Given the description of an element on the screen output the (x, y) to click on. 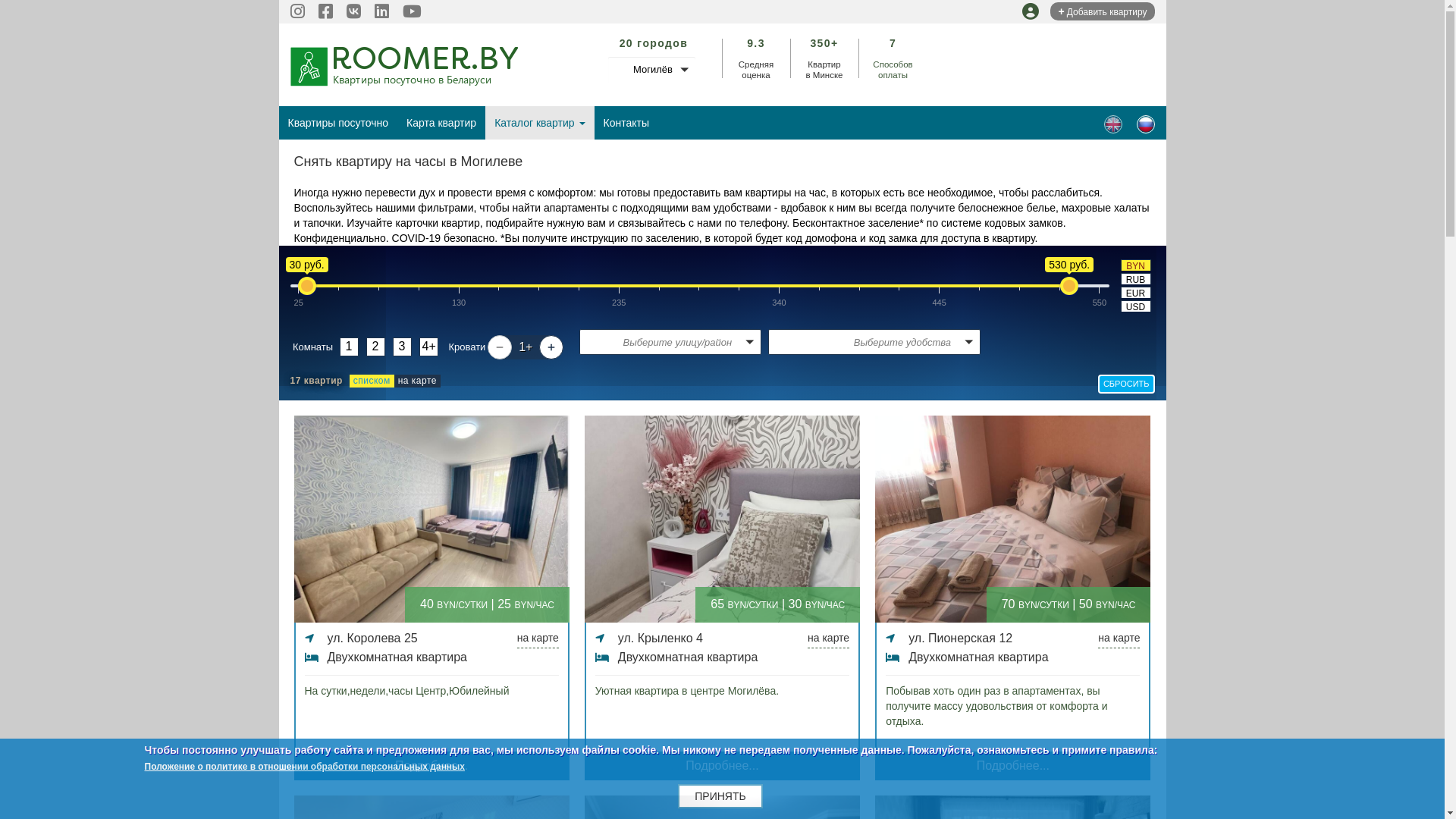
For a few hours Element type: hover (1113, 124)
